Given the description of an element on the screen output the (x, y) to click on. 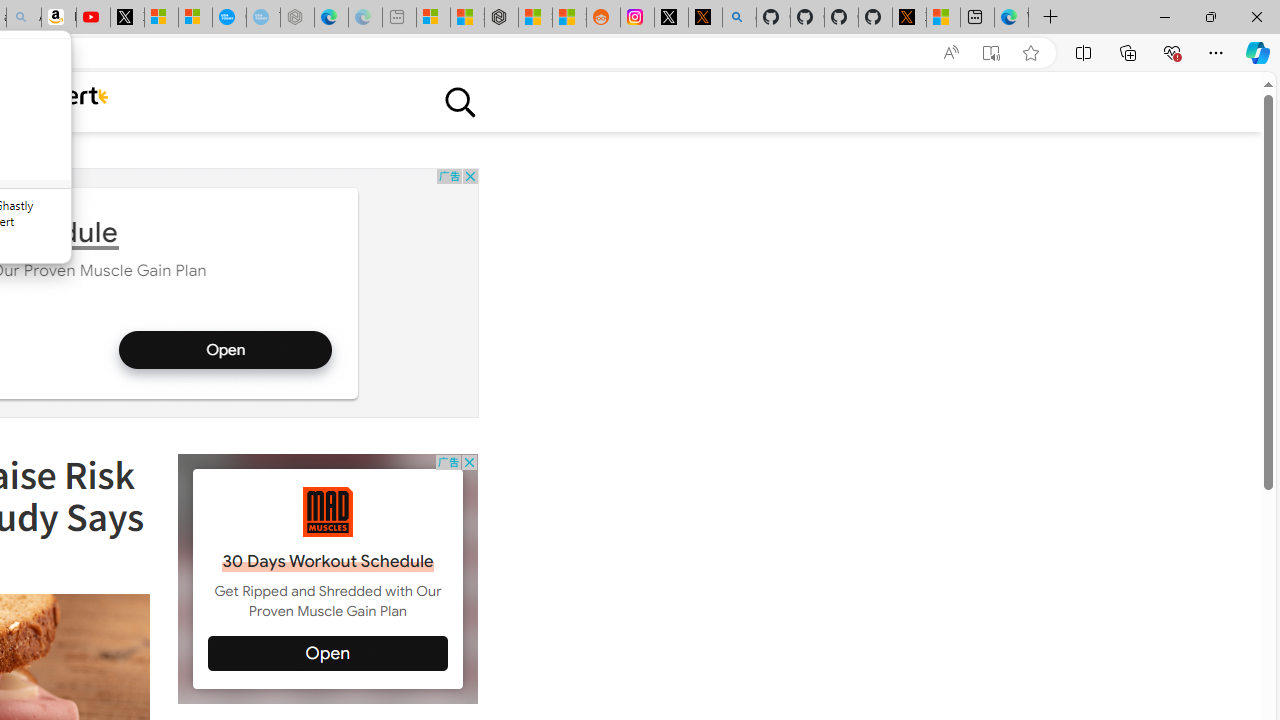
Microsoft account | Microsoft Account Privacy Settings (433, 17)
X Privacy Policy (909, 17)
Welcome to Microsoft Edge (1010, 17)
